Given the description of an element on the screen output the (x, y) to click on. 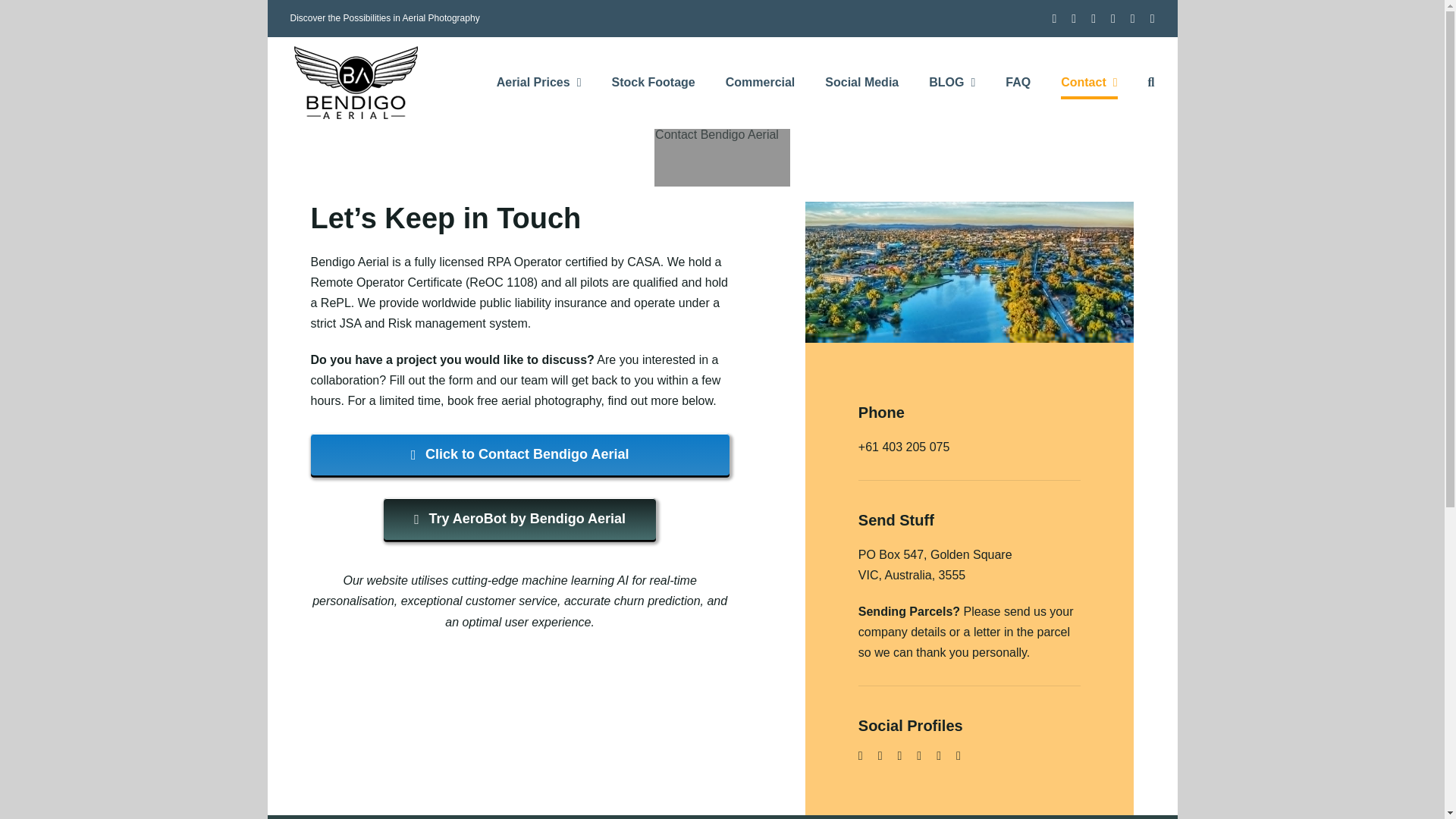
Contact Bendigo Aerial - Service Desk (520, 454)
Click to Contact Bendigo Aerial (520, 454)
Stock Footage (652, 81)
Aerial Prices (538, 81)
Try AeroBot by Bendigo Aerial (520, 518)
Contact Bendigo Aerial (710, 157)
AeroBot by Bendigo Aerial (520, 518)
